Given the description of an element on the screen output the (x, y) to click on. 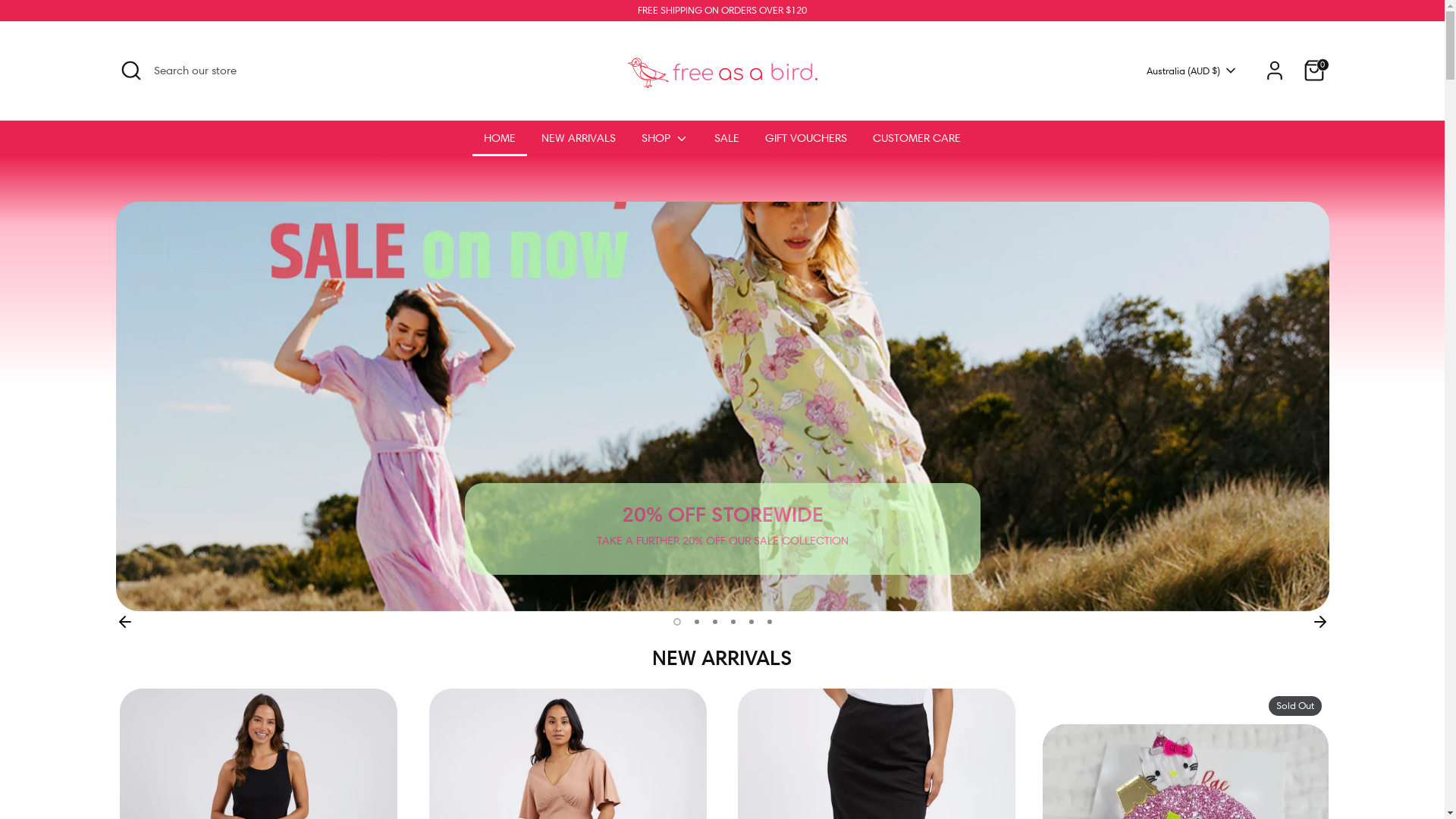
2 Element type: text (693, 620)
SHOP NOW Element type: text (892, 551)
Australia (AUD $) Element type: text (1192, 70)
SALE Element type: text (726, 142)
3 Element type: text (713, 620)
4 Element type: text (733, 620)
0 Element type: text (1313, 70)
1 Element type: text (675, 620)
SHOP Element type: text (664, 142)
NEW ARRIVALS Element type: text (578, 142)
GIFT VOUCHERS Element type: text (805, 142)
HOME Element type: text (499, 142)
CUSTOMER CARE Element type: text (916, 142)
5 Element type: text (751, 620)
6 Element type: text (769, 620)
